Given the description of an element on the screen output the (x, y) to click on. 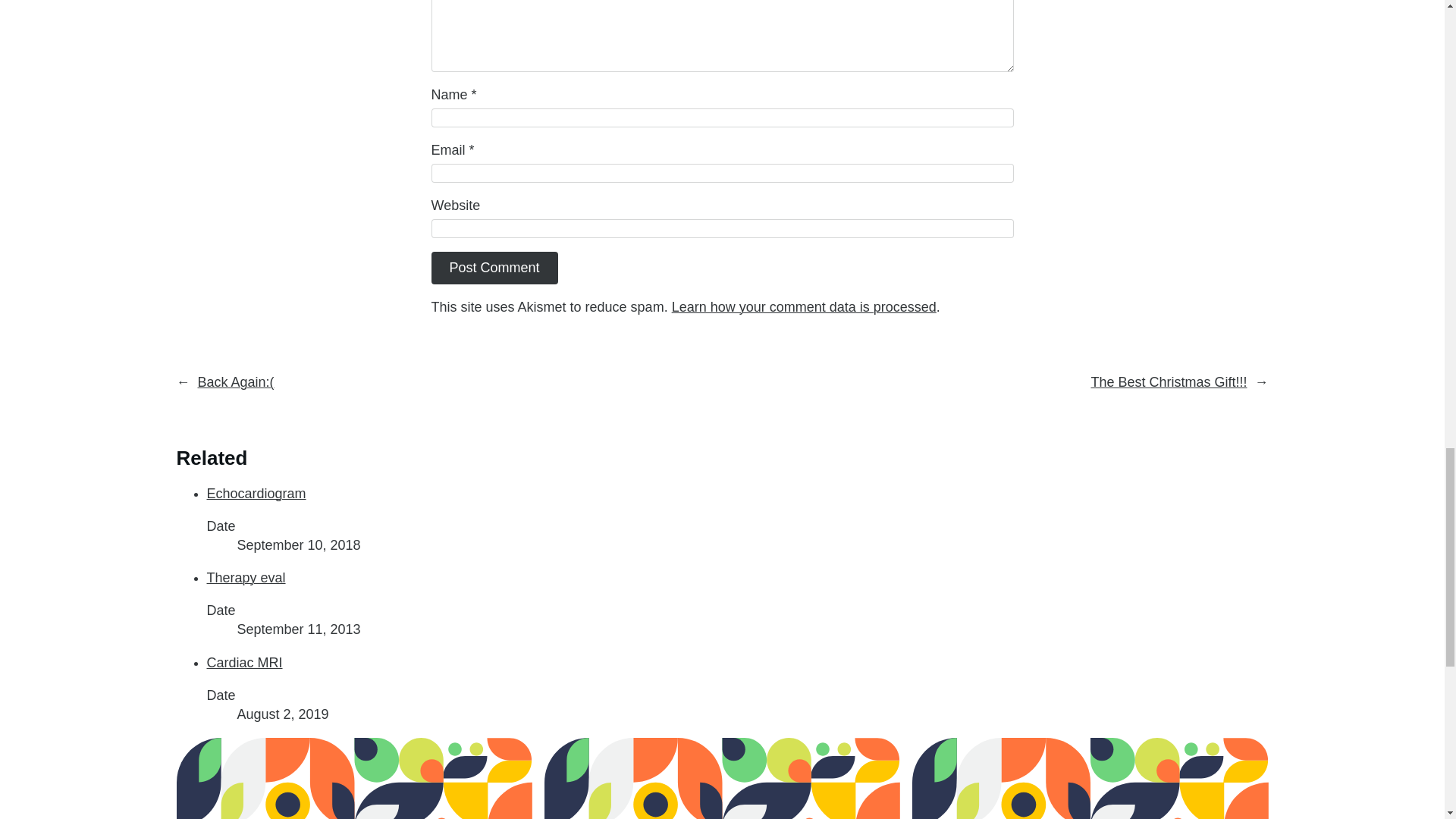
The Best Christmas Gift!!! (1168, 381)
Learn how your comment data is processed (803, 306)
Echocardiogram (255, 492)
Therapy eval (245, 577)
Post Comment (493, 267)
Cardiac MRI (244, 662)
Post Comment (493, 267)
